Given the description of an element on the screen output the (x, y) to click on. 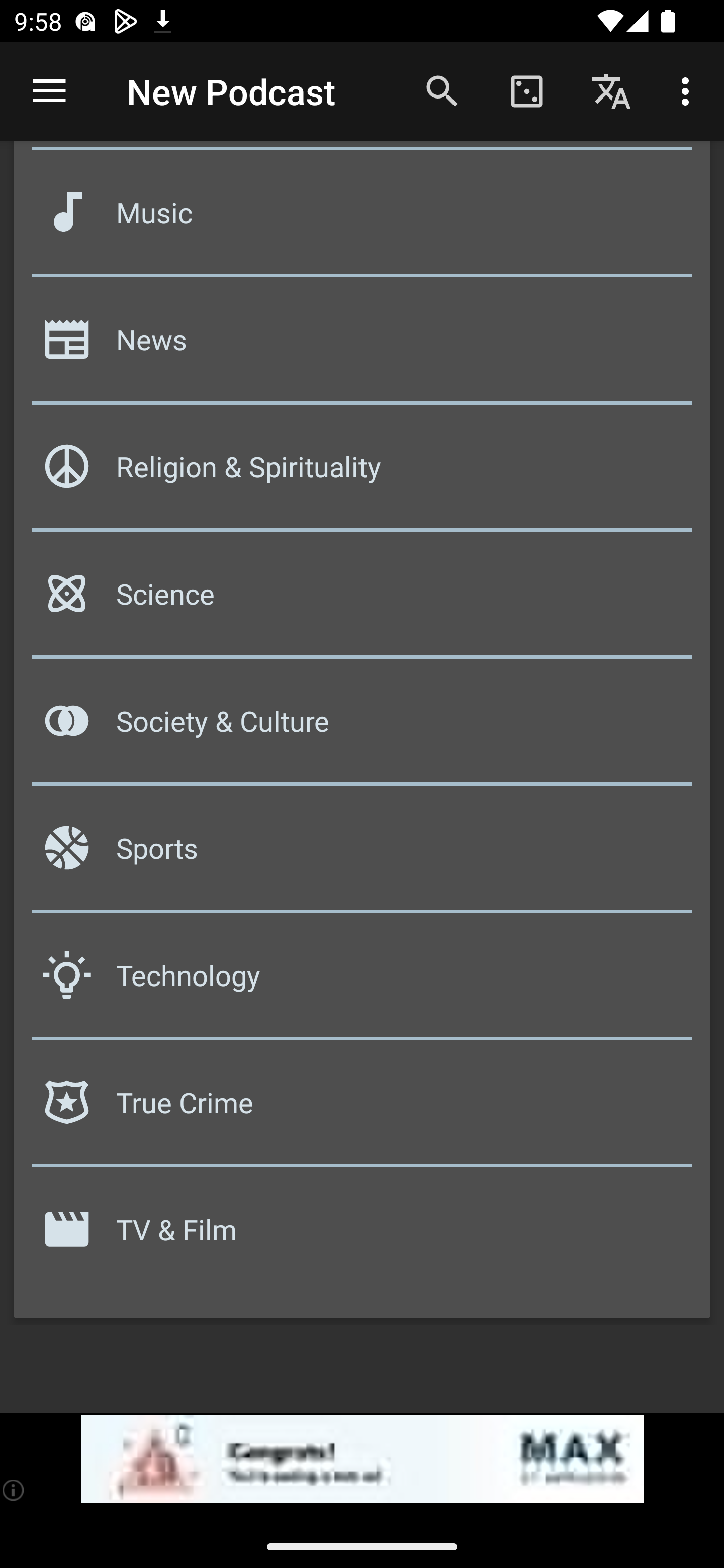
Open navigation sidebar (49, 91)
Search (442, 90)
Random pick (526, 90)
Podcast languages (611, 90)
More options (688, 90)
Music (361, 218)
News (361, 346)
Religion & Spirituality (361, 473)
Science (361, 600)
Society & Culture (361, 727)
Sports (361, 854)
Technology (361, 981)
True Crime (361, 1108)
TV & Film (361, 1235)
app-monetization (362, 1459)
(i) (14, 1489)
